Given the description of an element on the screen output the (x, y) to click on. 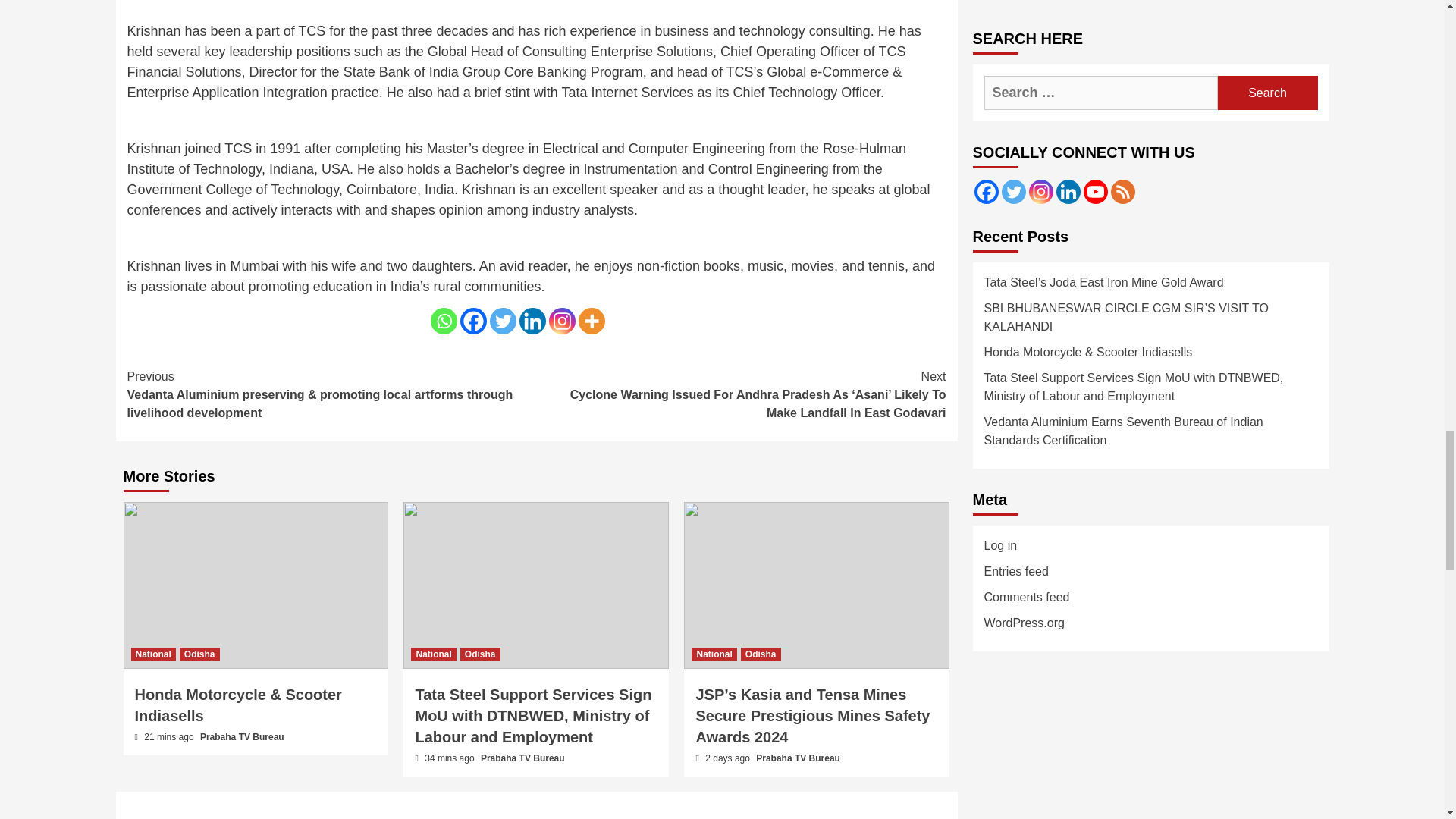
Instagram (561, 320)
Linkedin (531, 320)
More (591, 320)
Whatsapp (443, 320)
Facebook (473, 320)
Twitter (502, 320)
